Given the description of an element on the screen output the (x, y) to click on. 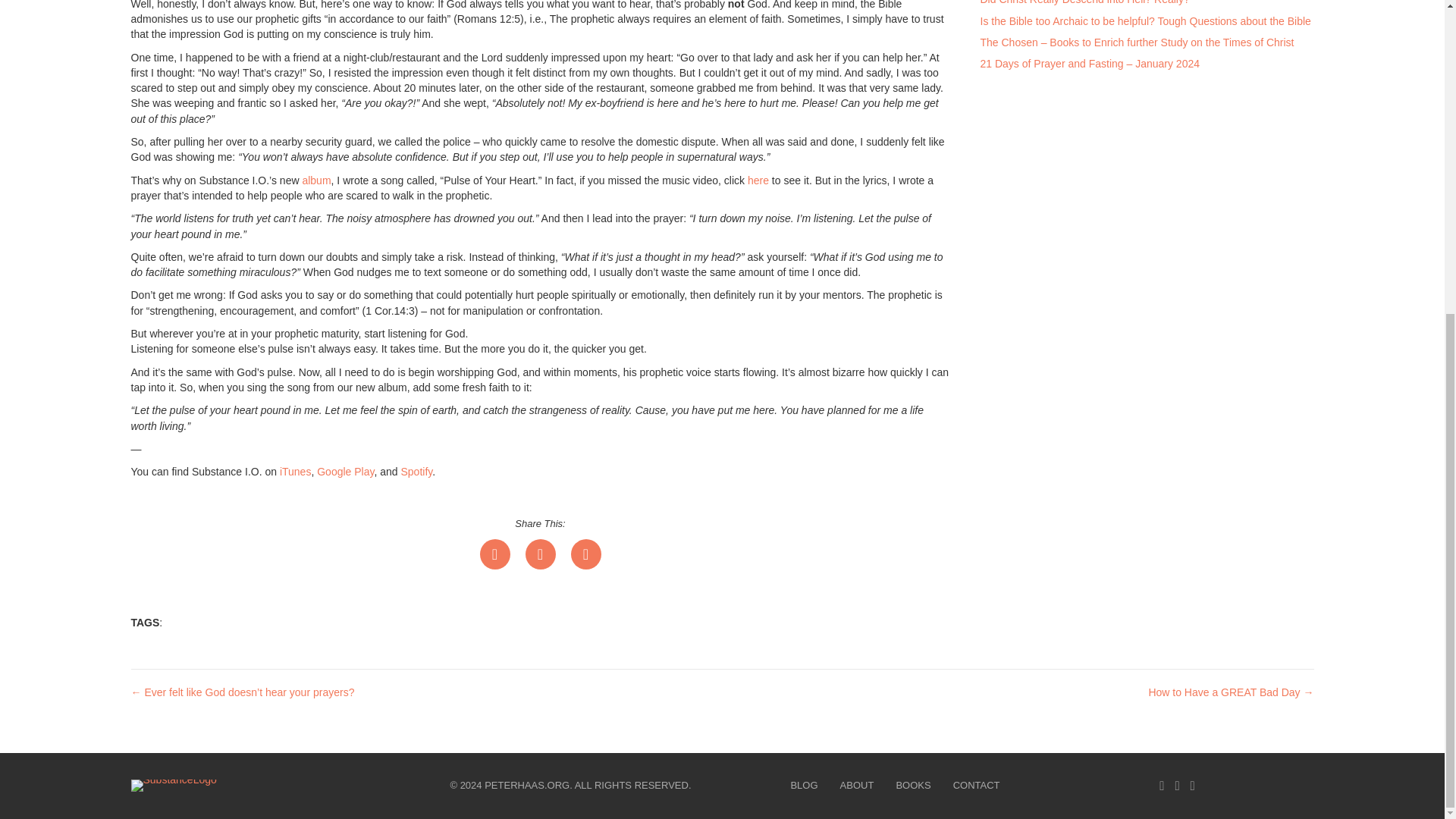
Spotify (416, 471)
BOOKS (912, 785)
iTunes (295, 471)
album (315, 180)
ABOUT (857, 785)
here (758, 180)
SubstanceLogo (173, 785)
Google Play (345, 471)
Did Christ Really Descend into Hell? Really? (1084, 2)
